Given the description of an element on the screen output the (x, y) to click on. 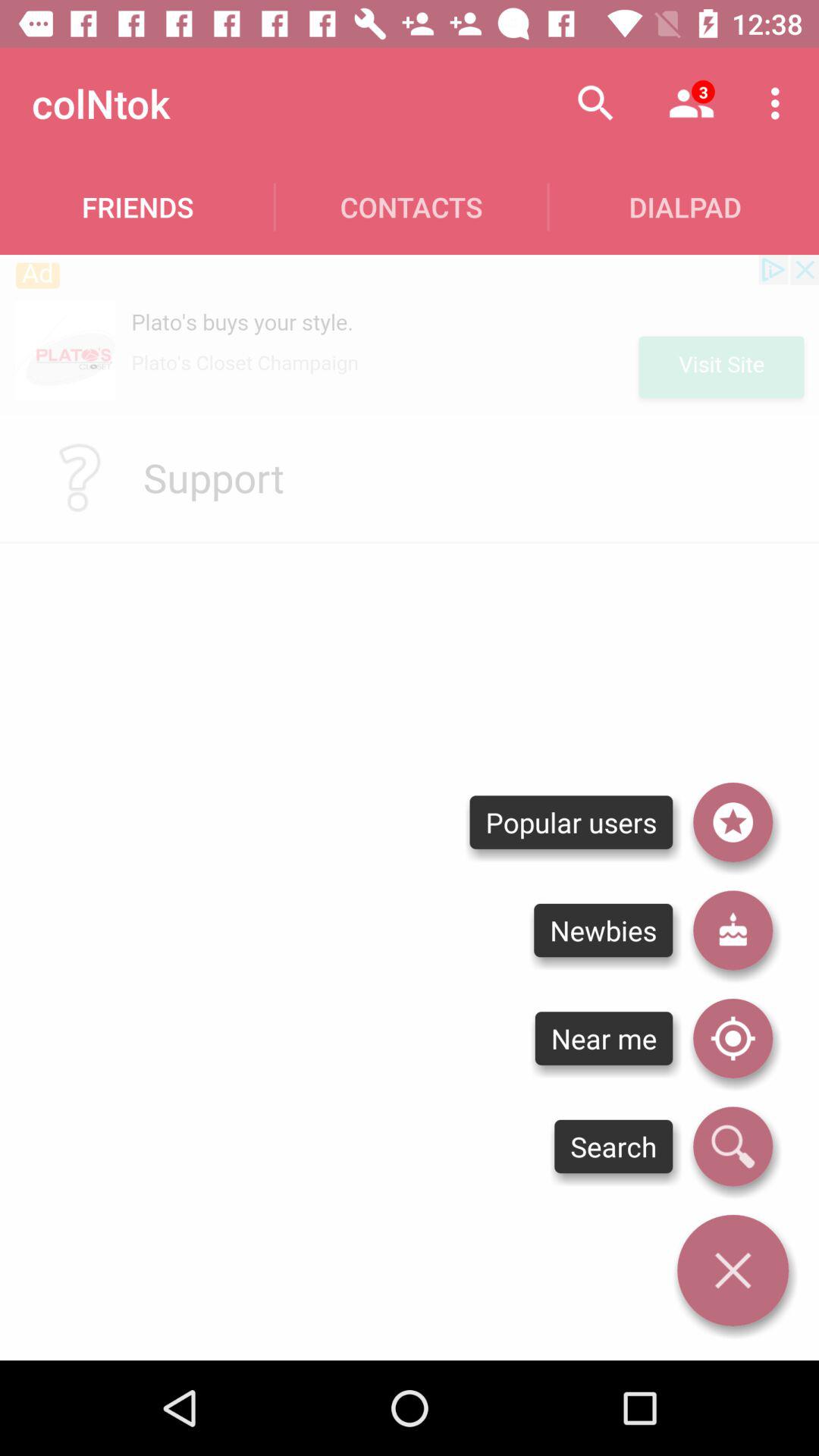
tap icon below friends icon (409, 334)
